Given the description of an element on the screen output the (x, y) to click on. 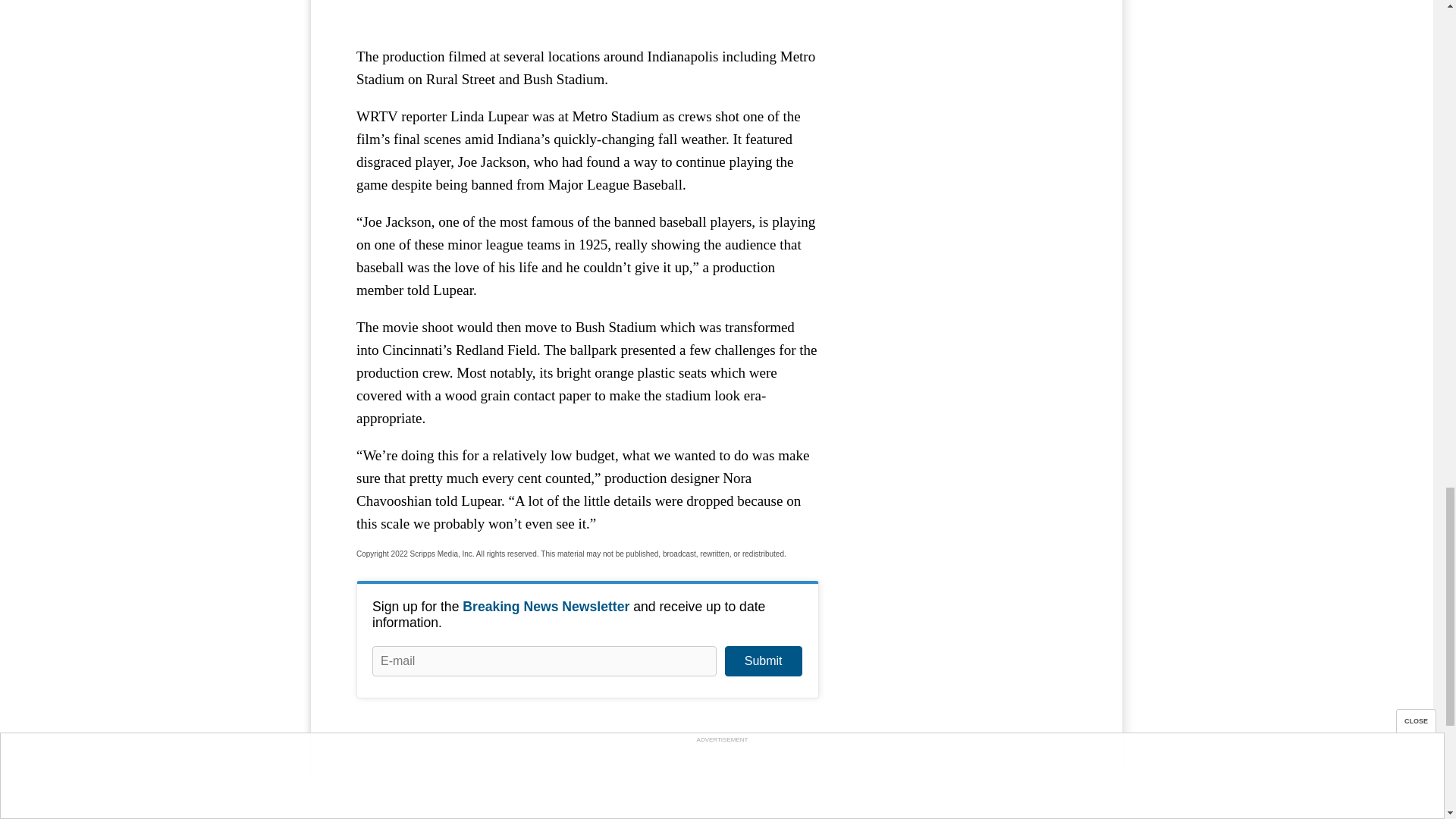
Submit (763, 661)
3rd party ad content (587, 9)
